Given the description of an element on the screen output the (x, y) to click on. 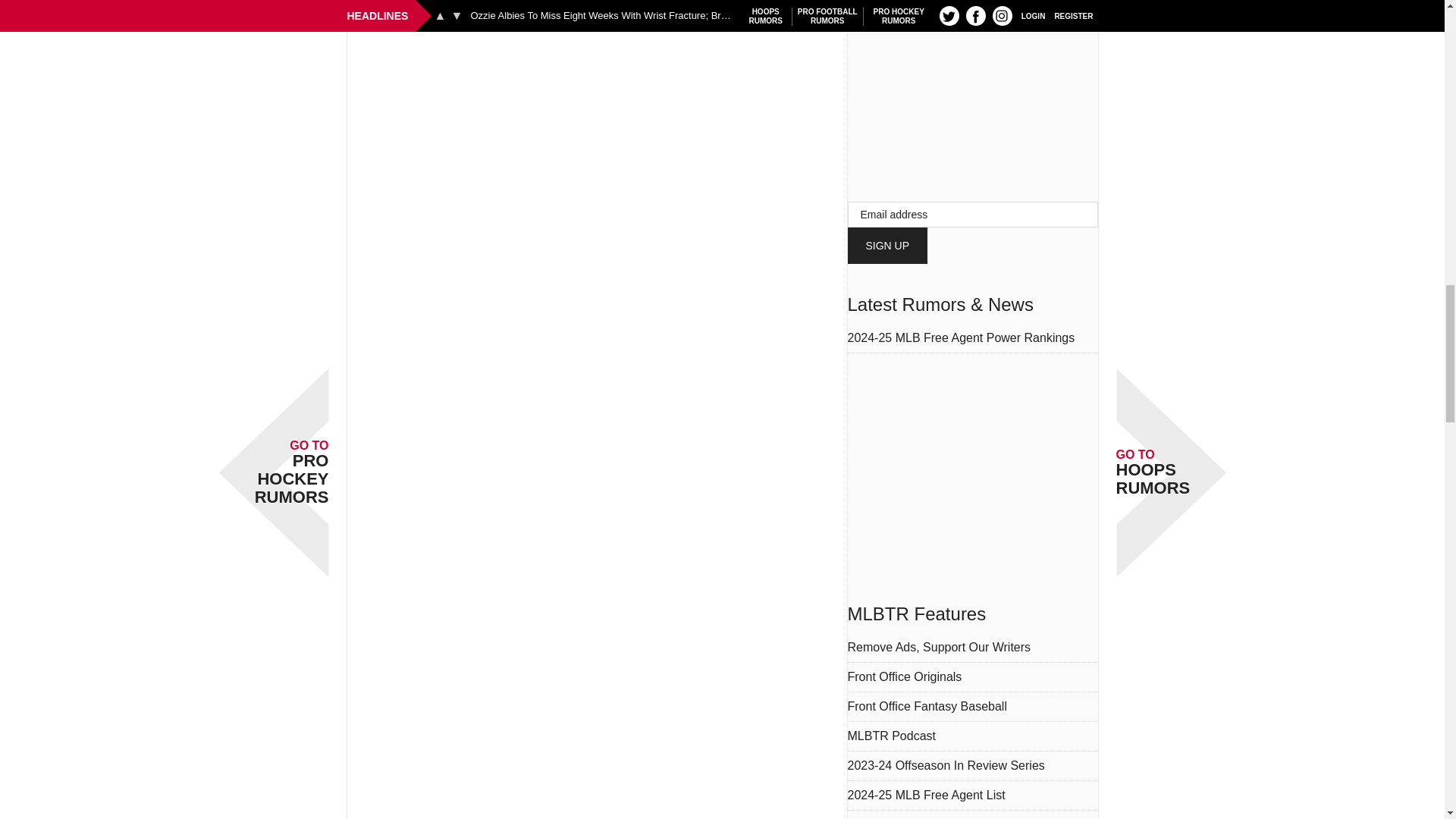
Sign Up (887, 245)
